Given the description of an element on the screen output the (x, y) to click on. 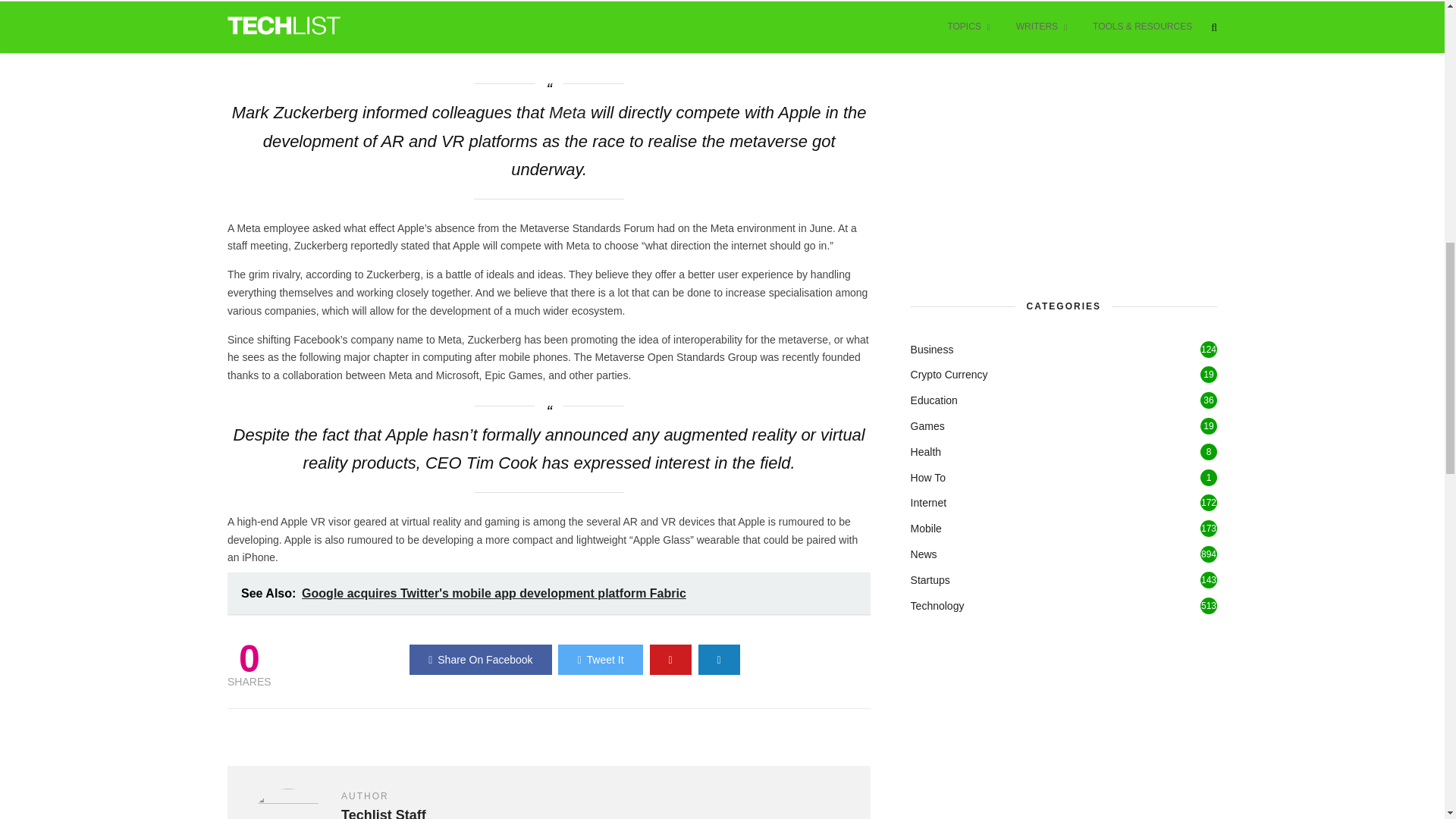
Share by Email (718, 659)
Advertisement (1024, 131)
Share On Pinterest (670, 659)
Share On Facebook (480, 659)
Share On Twitter (599, 659)
